Given the description of an element on the screen output the (x, y) to click on. 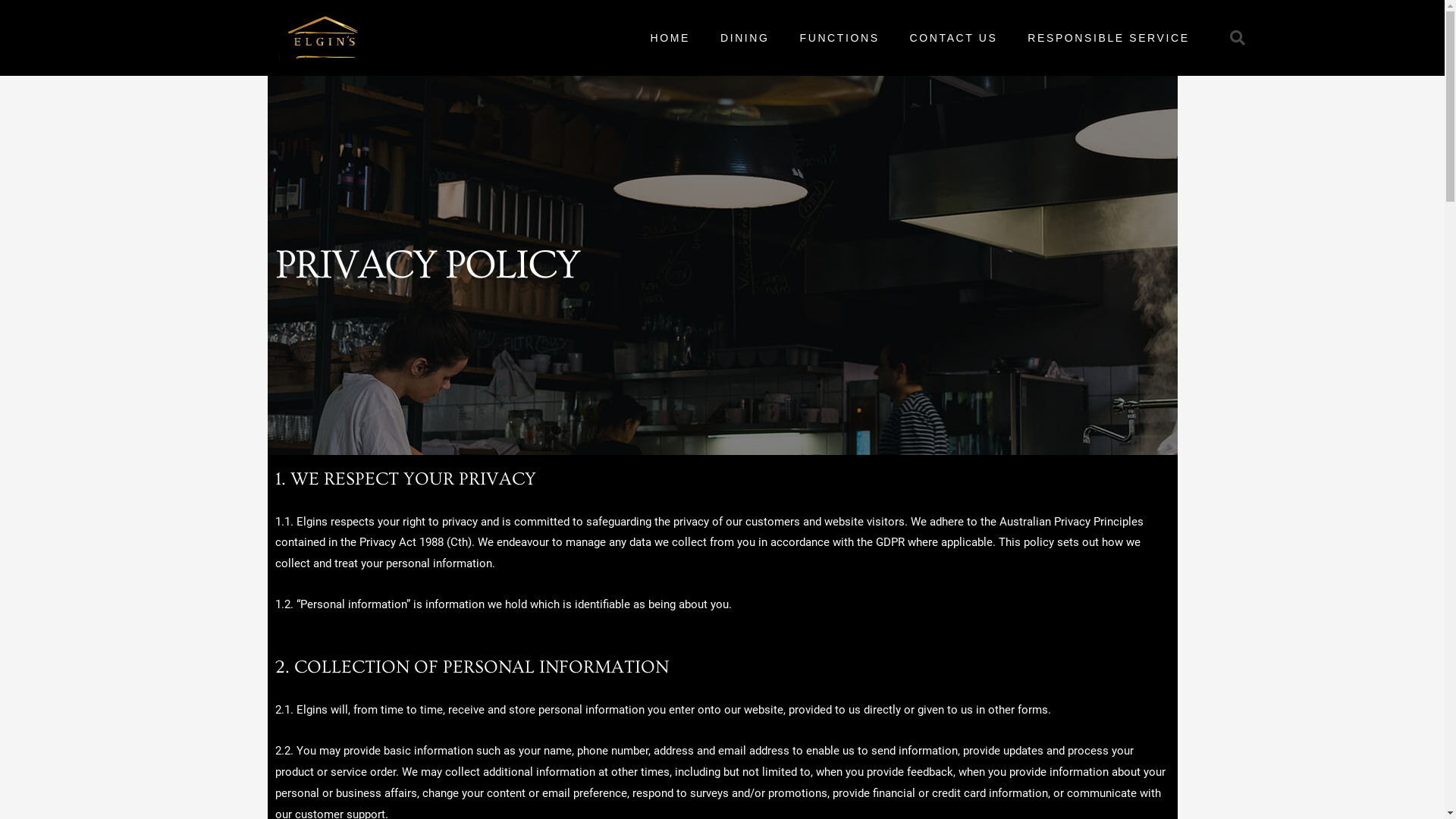
CONTACT US Element type: text (953, 37)
HOME Element type: text (670, 37)
RESPONSIBLE SERVICE Element type: text (1108, 37)
FUNCTIONS Element type: text (839, 37)
DINING Element type: text (744, 37)
